Given the description of an element on the screen output the (x, y) to click on. 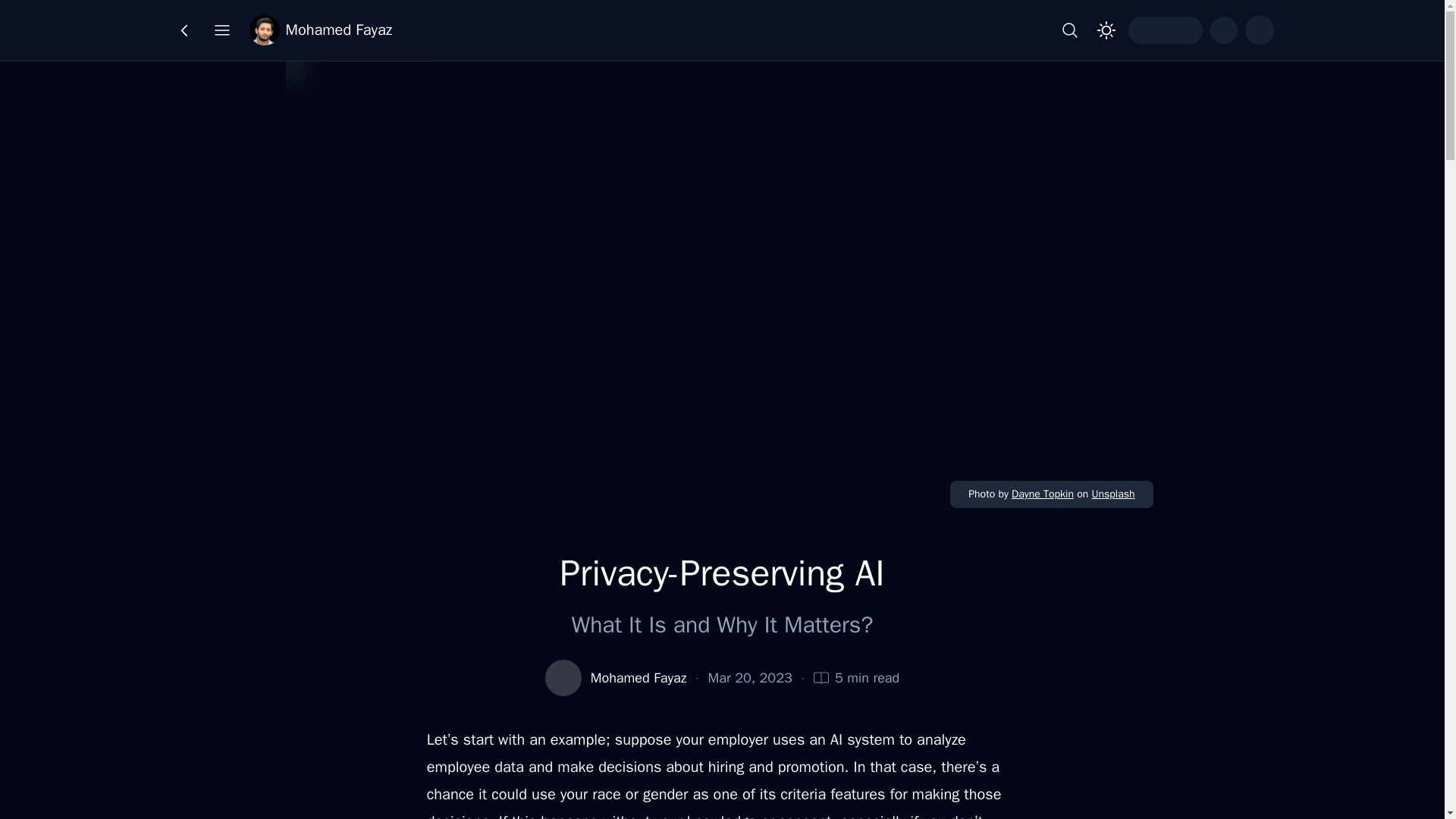
Mar 20, 2023 (749, 677)
Mohamed Fayaz (319, 30)
Unsplash (1112, 493)
Mohamed Fayaz (639, 677)
Dayne Topkin (1042, 493)
